Given the description of an element on the screen output the (x, y) to click on. 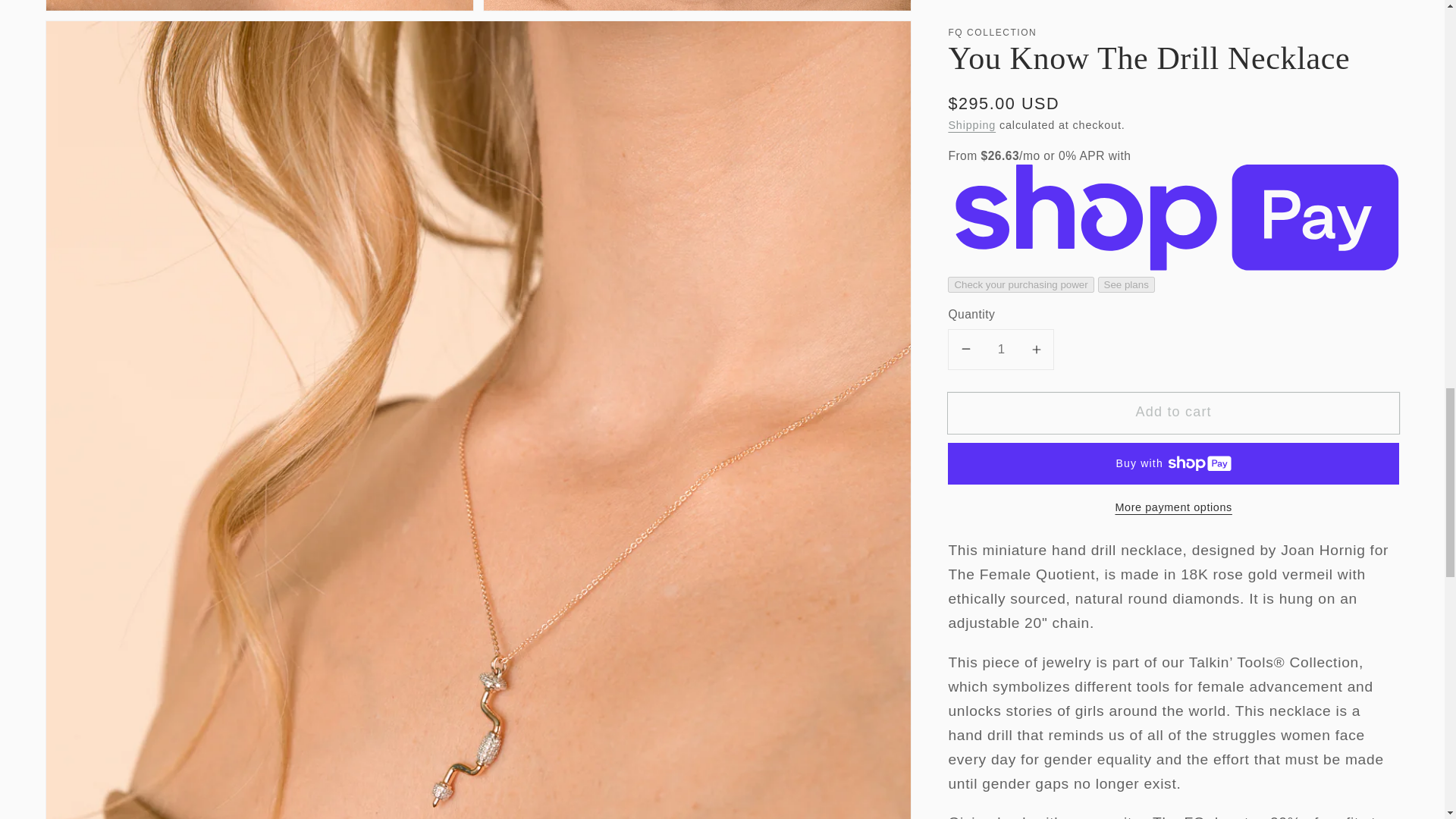
Open media 2 in gallery view (259, 5)
Open media 3 in gallery view (697, 5)
